Given the description of an element on the screen output the (x, y) to click on. 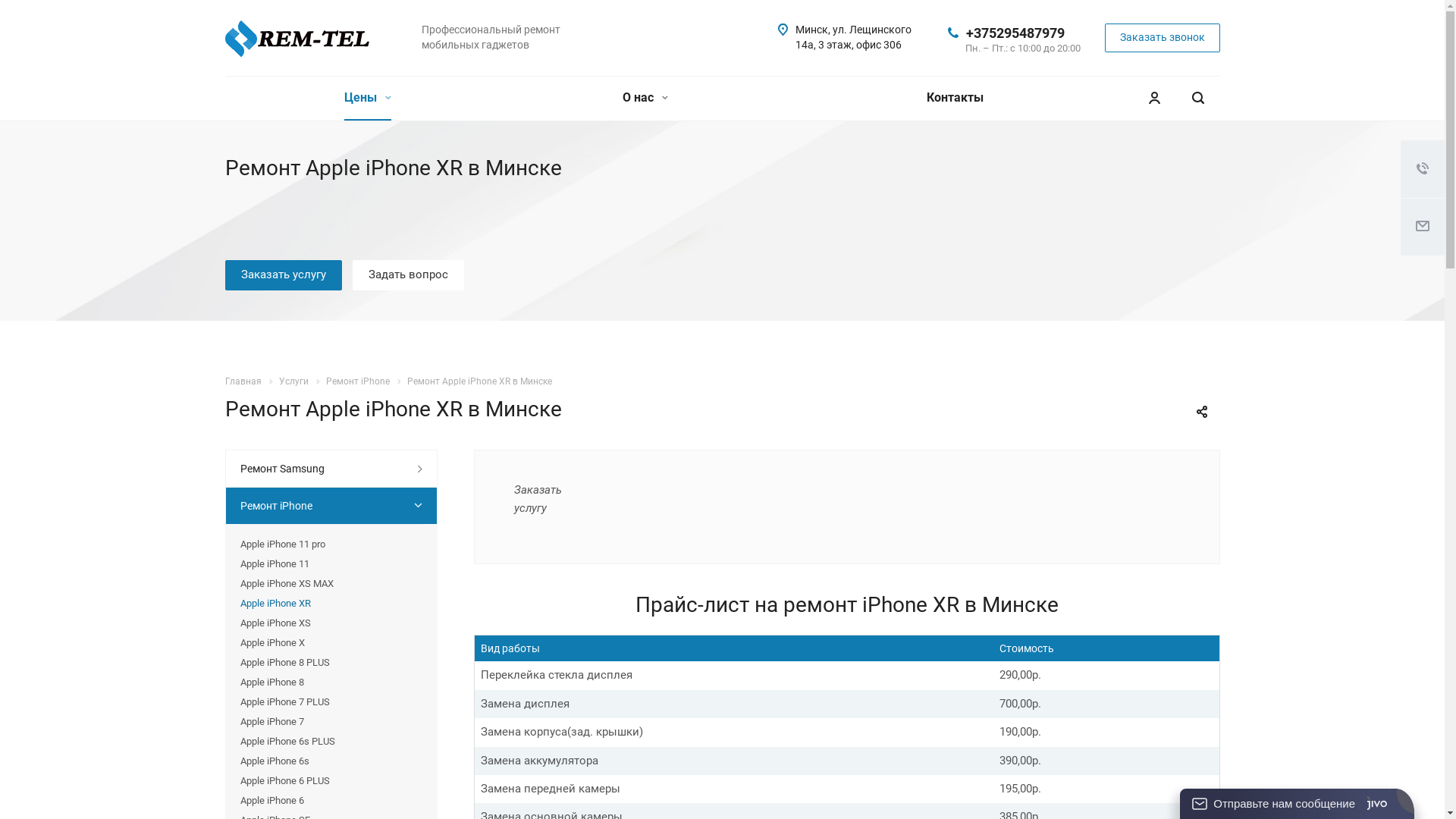
Apple iPhone 7 Element type: text (330, 721)
Apple iPhone XS Element type: text (330, 623)
Apple iPhone 8 PLUS Element type: text (330, 662)
Apple iPhone 7 PLUS Element type: text (330, 702)
Apple iPhone 8 Element type: text (330, 682)
+375295487979 Element type: text (1015, 32)
Apple iPhone 11 Element type: text (330, 564)
Apple iPhone XR Element type: text (330, 603)
Apple iPhone 11 pro Element type: text (330, 544)
Apple iPhone X Element type: text (330, 642)
Apple iPhone 6 Element type: text (330, 800)
Apple iPhone 6s Element type: text (330, 761)
Apple iPhone 6s PLUS Element type: text (330, 741)
Apple iPhone XS MAX Element type: text (330, 583)
Apple iPhone 6 PLUS Element type: text (330, 780)
